Given the description of an element on the screen output the (x, y) to click on. 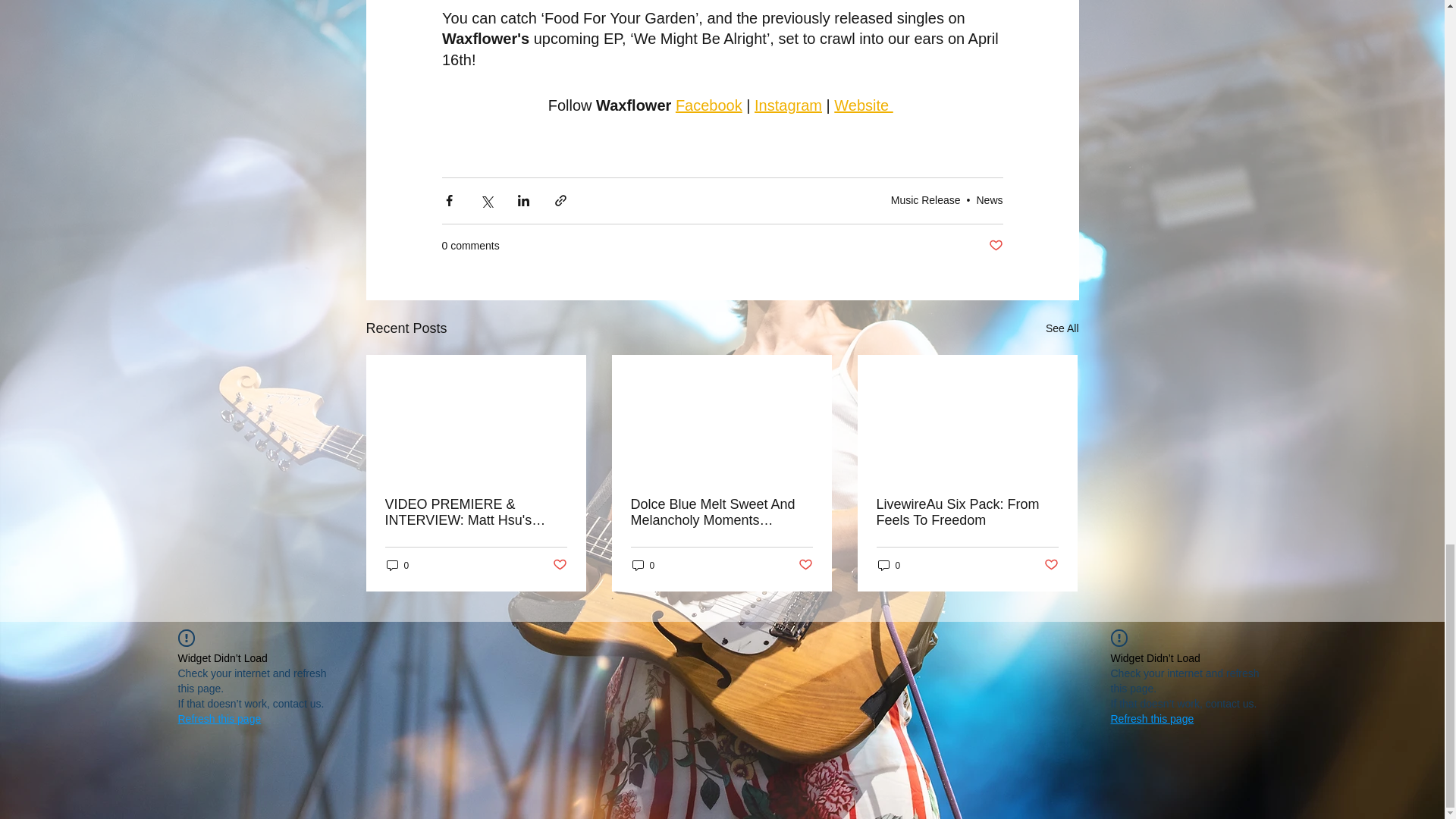
Post not marked as liked (995, 245)
Post not marked as liked (1050, 565)
Post not marked as liked (558, 565)
Refresh this page (218, 718)
Dolce Blue Melt Sweet And Melancholy Moments Together (721, 512)
0 (643, 564)
Music Release (925, 200)
Post not marked as liked (804, 565)
LivewireAu Six Pack: From Feels To Freedom (967, 512)
See All (1061, 328)
Website  (863, 105)
0 (397, 564)
News (989, 200)
Instagram (788, 105)
Facebook (708, 105)
